Given the description of an element on the screen output the (x, y) to click on. 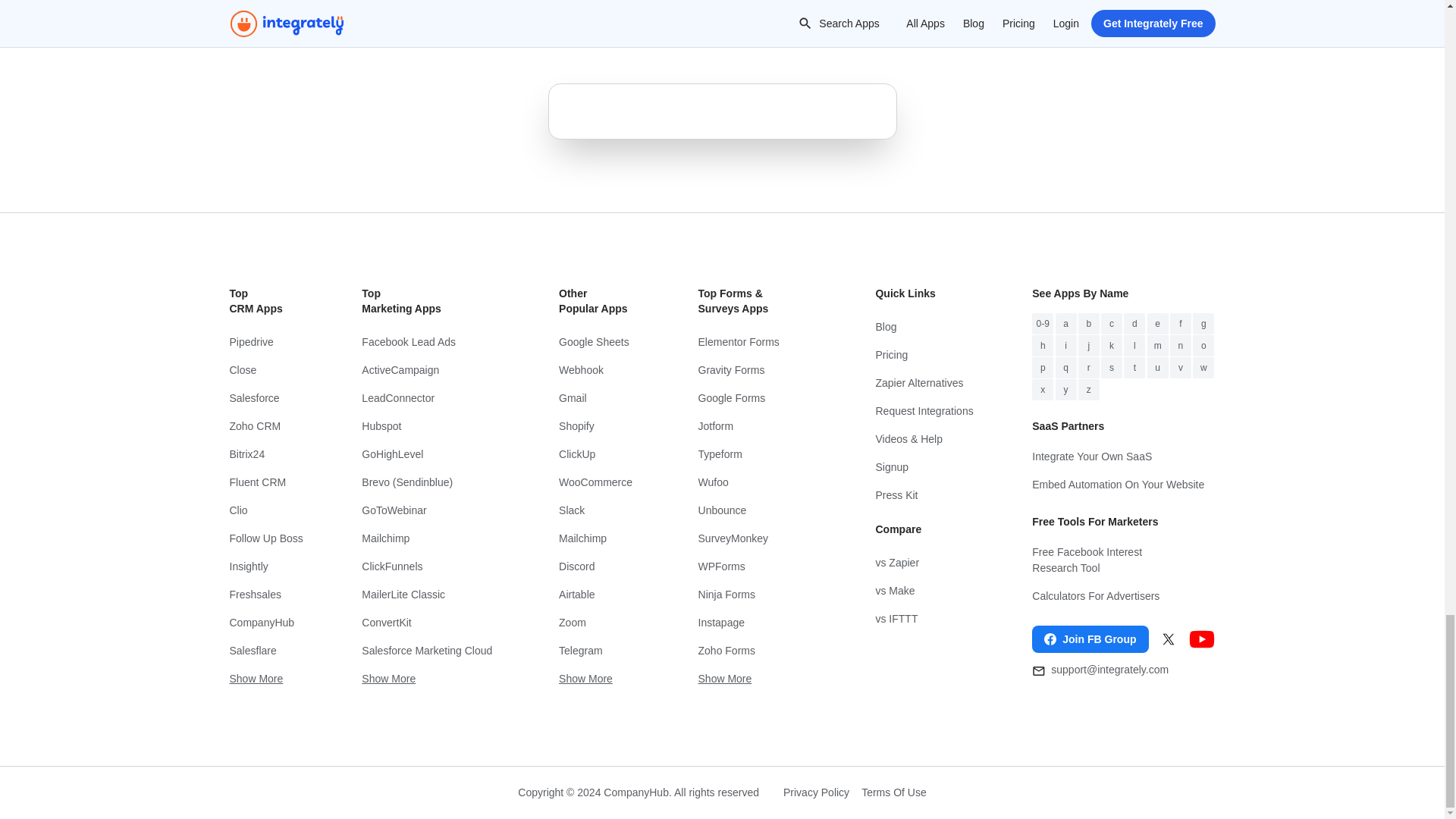
Fluent CRM (265, 482)
Integrately Twitter (1167, 638)
GoHighLevel (430, 454)
Insightly (265, 566)
Close (265, 370)
Clio (265, 510)
LeadConnector (430, 398)
ClickFunnels (430, 566)
Zoho CRM (265, 426)
Pipedrive (265, 342)
